Given the description of an element on the screen output the (x, y) to click on. 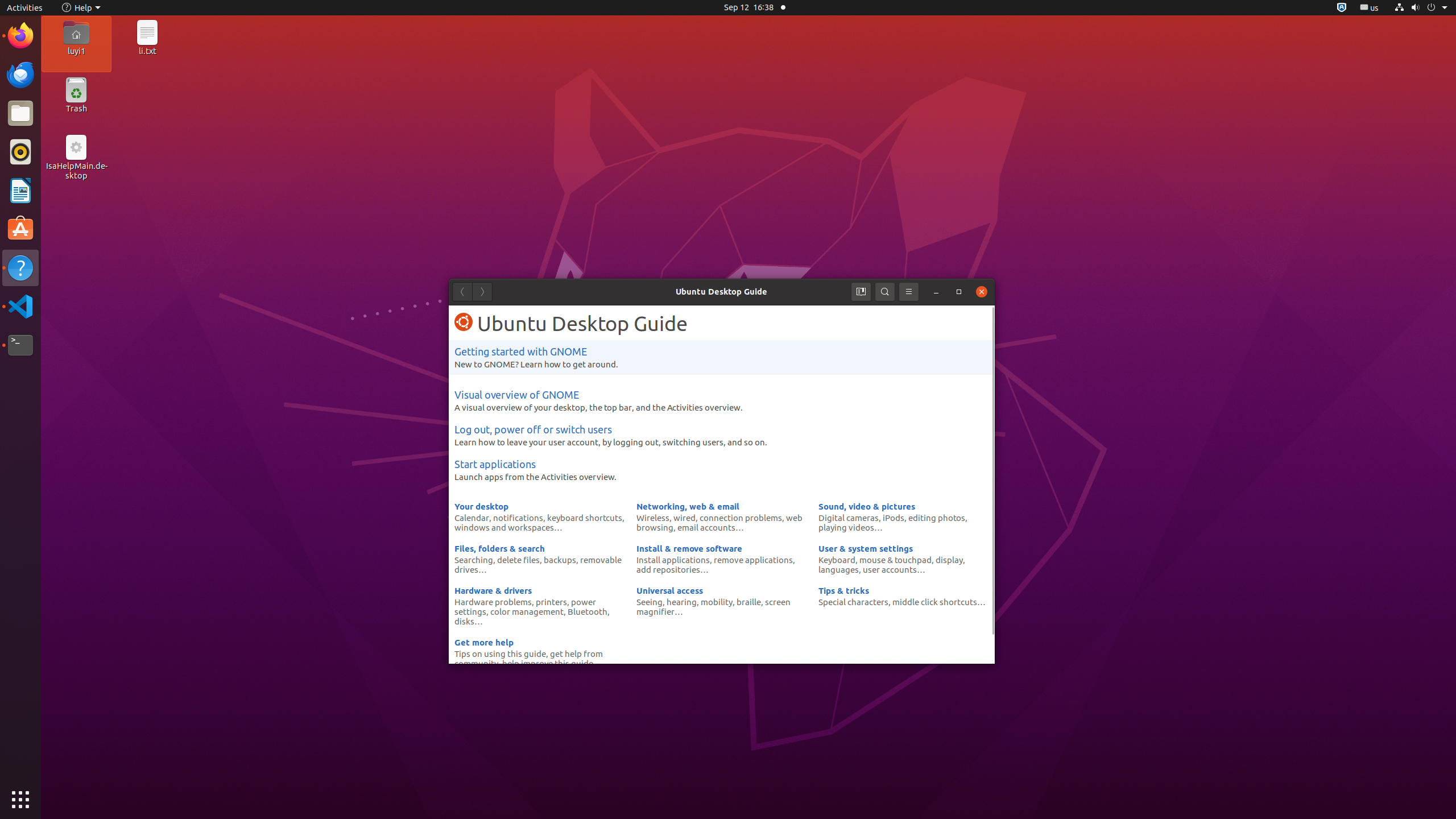
Terminal Element type: push-button (20, 344)
wired Element type: link (684, 517)
Visual overview of GNOME A visual overview of your desktop, the top bar, and the Activities overview. Element type: link (721, 400)
